Given the description of an element on the screen output the (x, y) to click on. 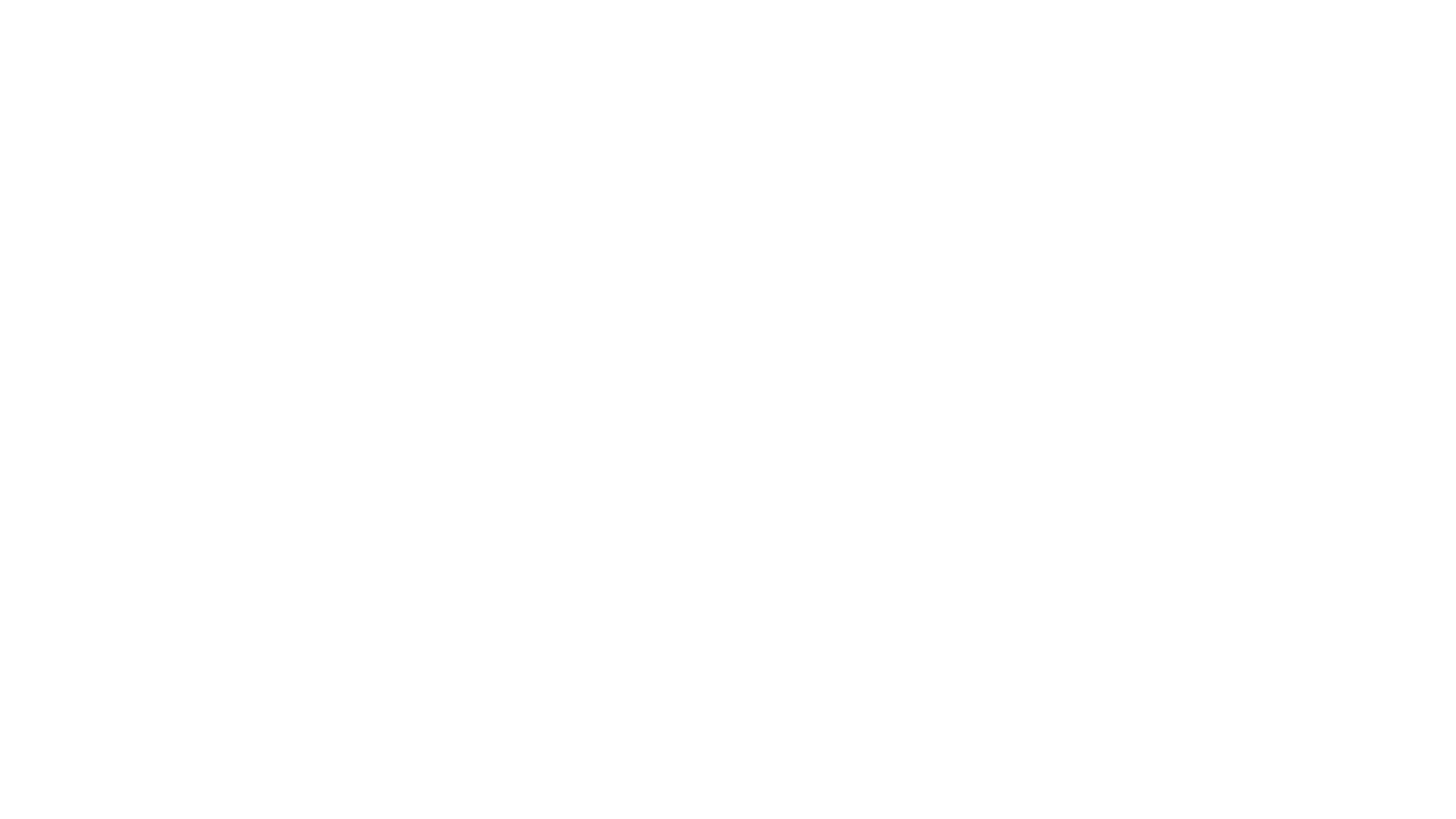
www.sriveda.ch Element type: text (982, 551)
